Given the description of an element on the screen output the (x, y) to click on. 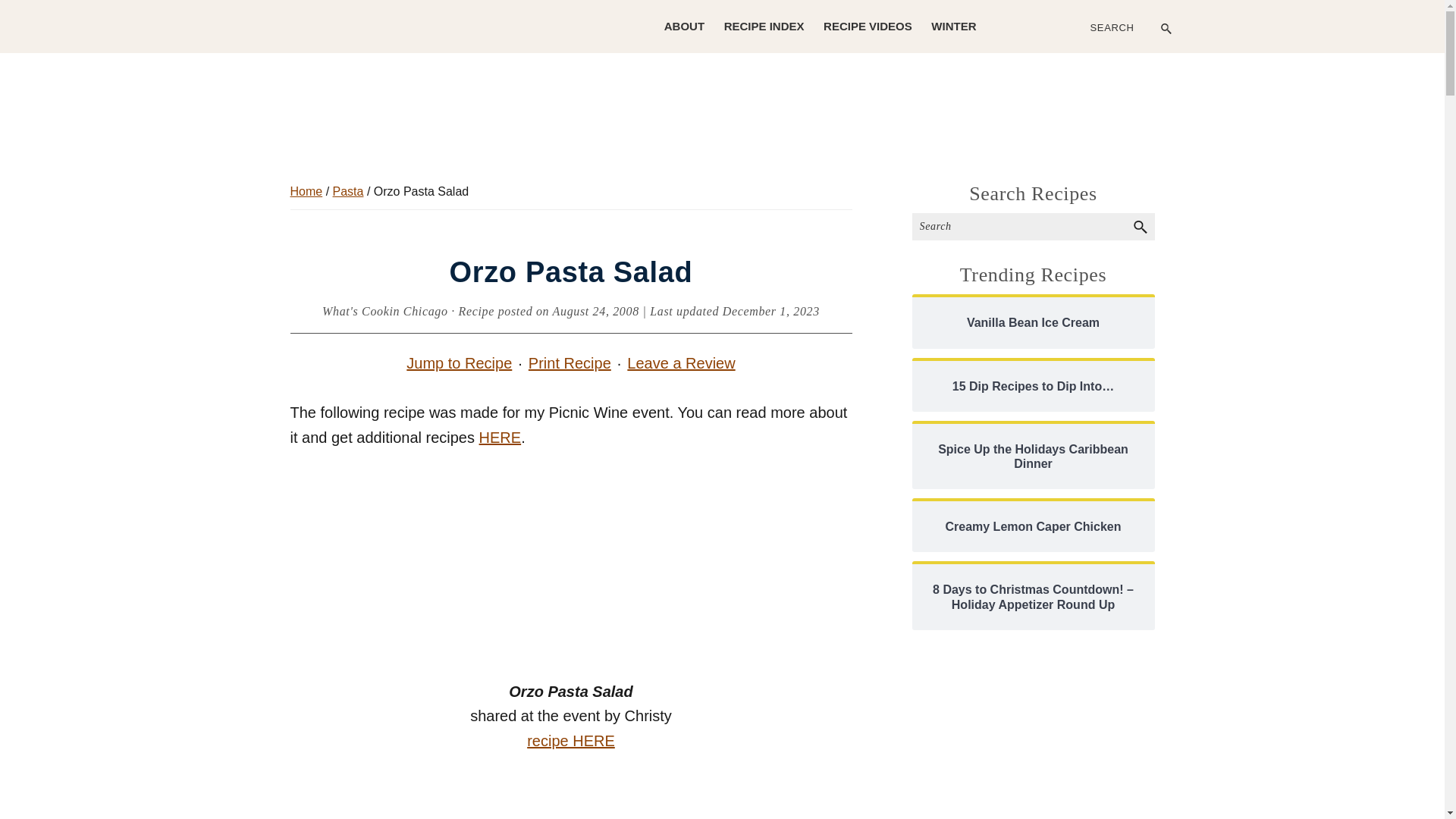
WINTER (953, 25)
ABOUT (683, 25)
Home (305, 191)
RECIPE INDEX (764, 25)
Pasta (348, 191)
RECIPE VIDEOS (867, 25)
HERE (500, 437)
Leave a Review (681, 363)
